Given the description of an element on the screen output the (x, y) to click on. 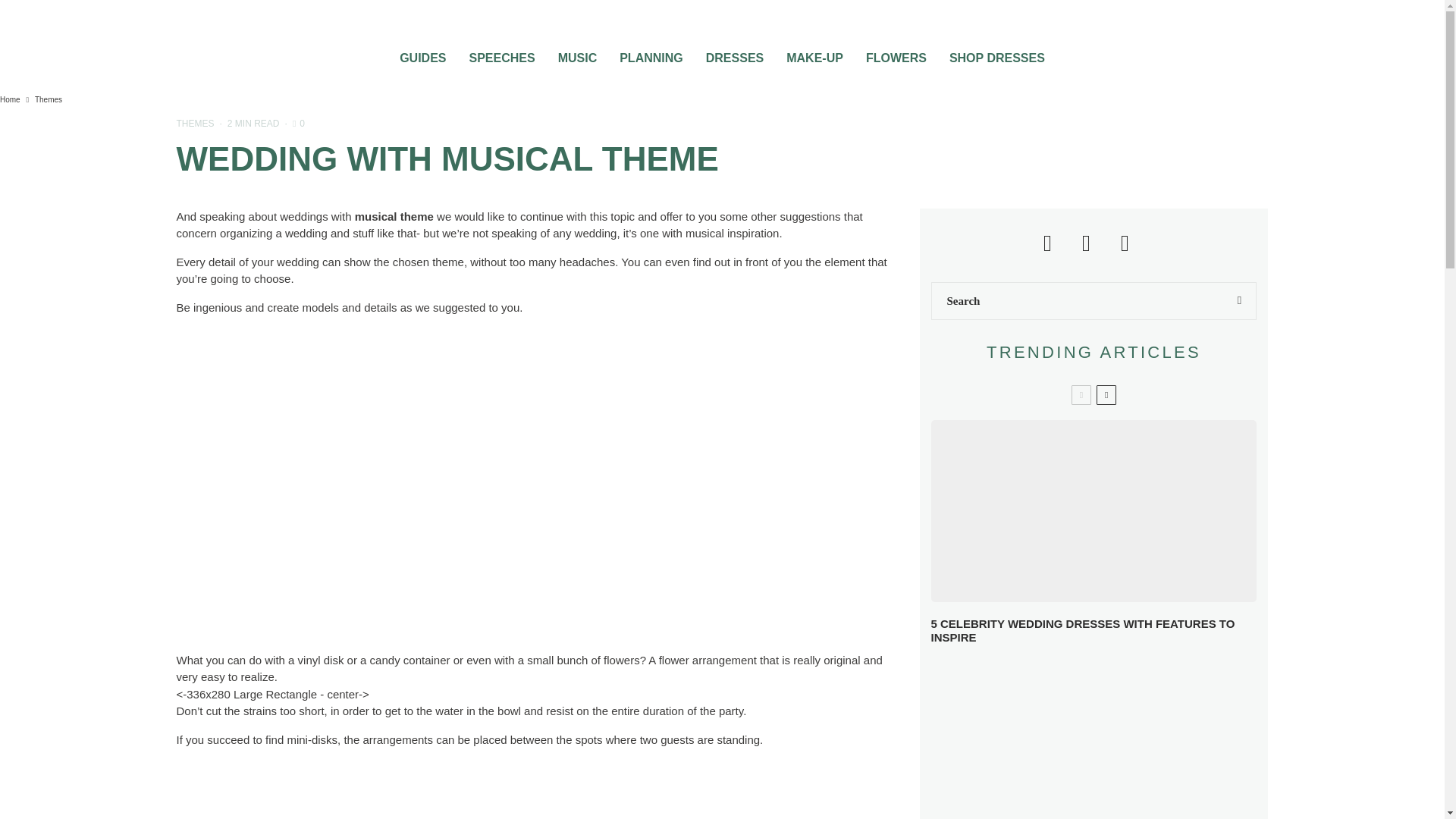
GUIDES (422, 52)
SPEECHES (501, 52)
MUSIC (577, 52)
Wedding Planning (651, 52)
PLANNING (651, 52)
DRESSES (734, 52)
